Given the description of an element on the screen output the (x, y) to click on. 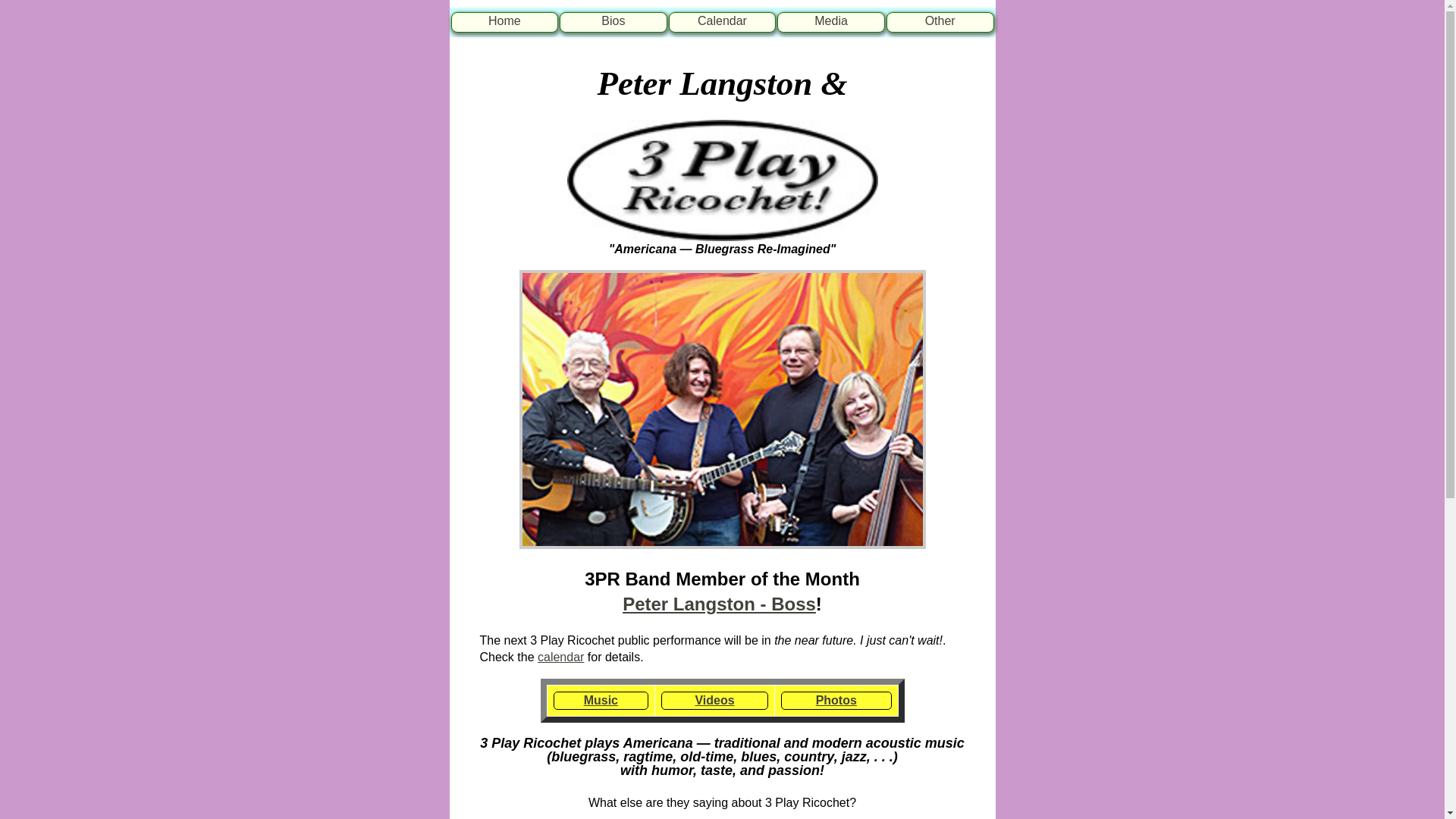
What else are they saying about 3 Play Ricochet? Element type: text (721, 802)
      Home       Element type: text (503, 20)
      Media       Element type: text (831, 20)
    Calendar     Element type: text (721, 20)
calendar Element type: text (560, 656)
Photos Element type: text (835, 699)
      Other       Element type: text (939, 20)
Videos Element type: text (714, 699)
Peter Langston - Boss Element type: text (718, 603)
      Bios       Element type: text (613, 20)
Music Element type: text (600, 699)
